Given the description of an element on the screen output the (x, y) to click on. 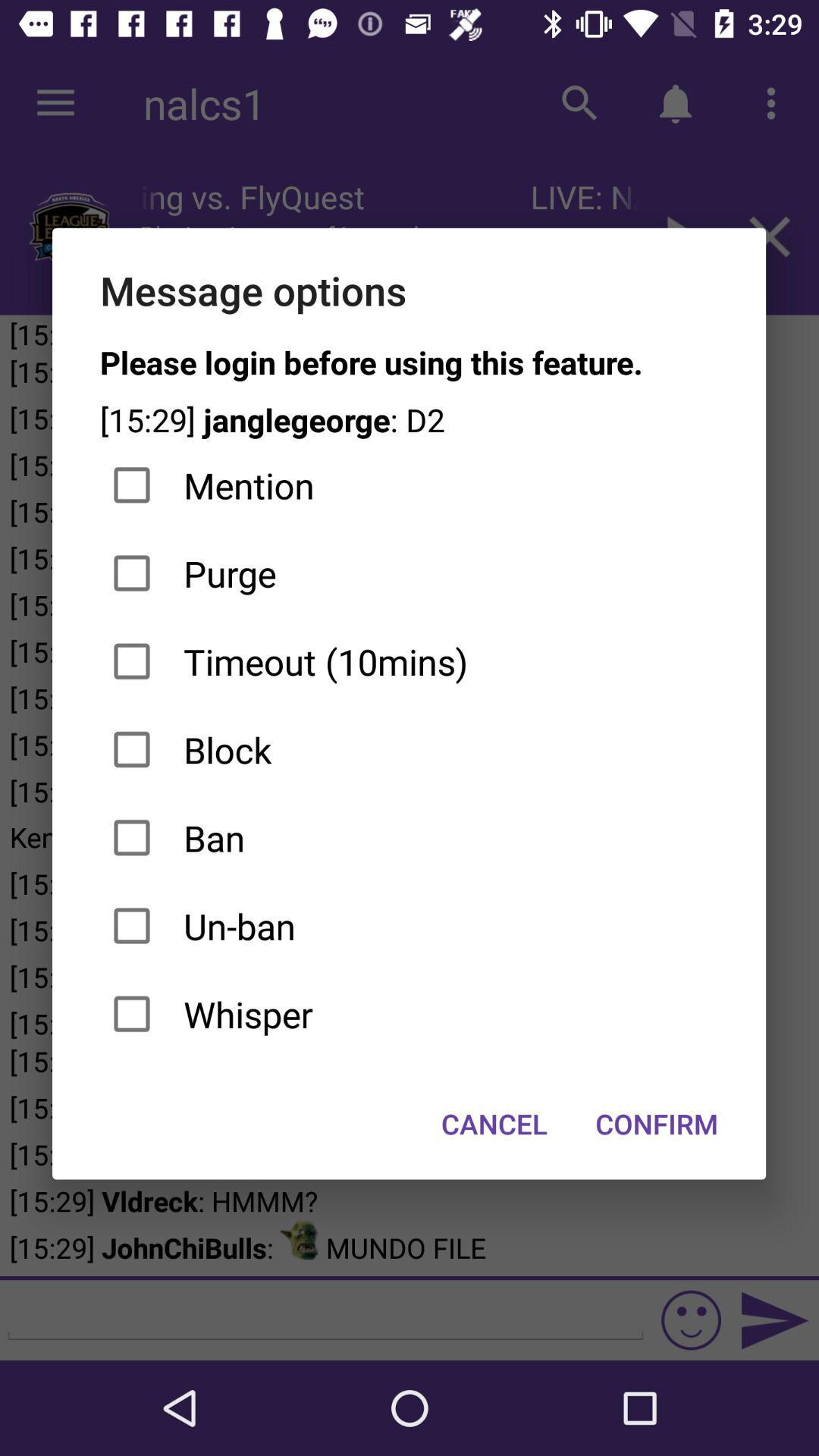
select the cancel icon (494, 1123)
